Given the description of an element on the screen output the (x, y) to click on. 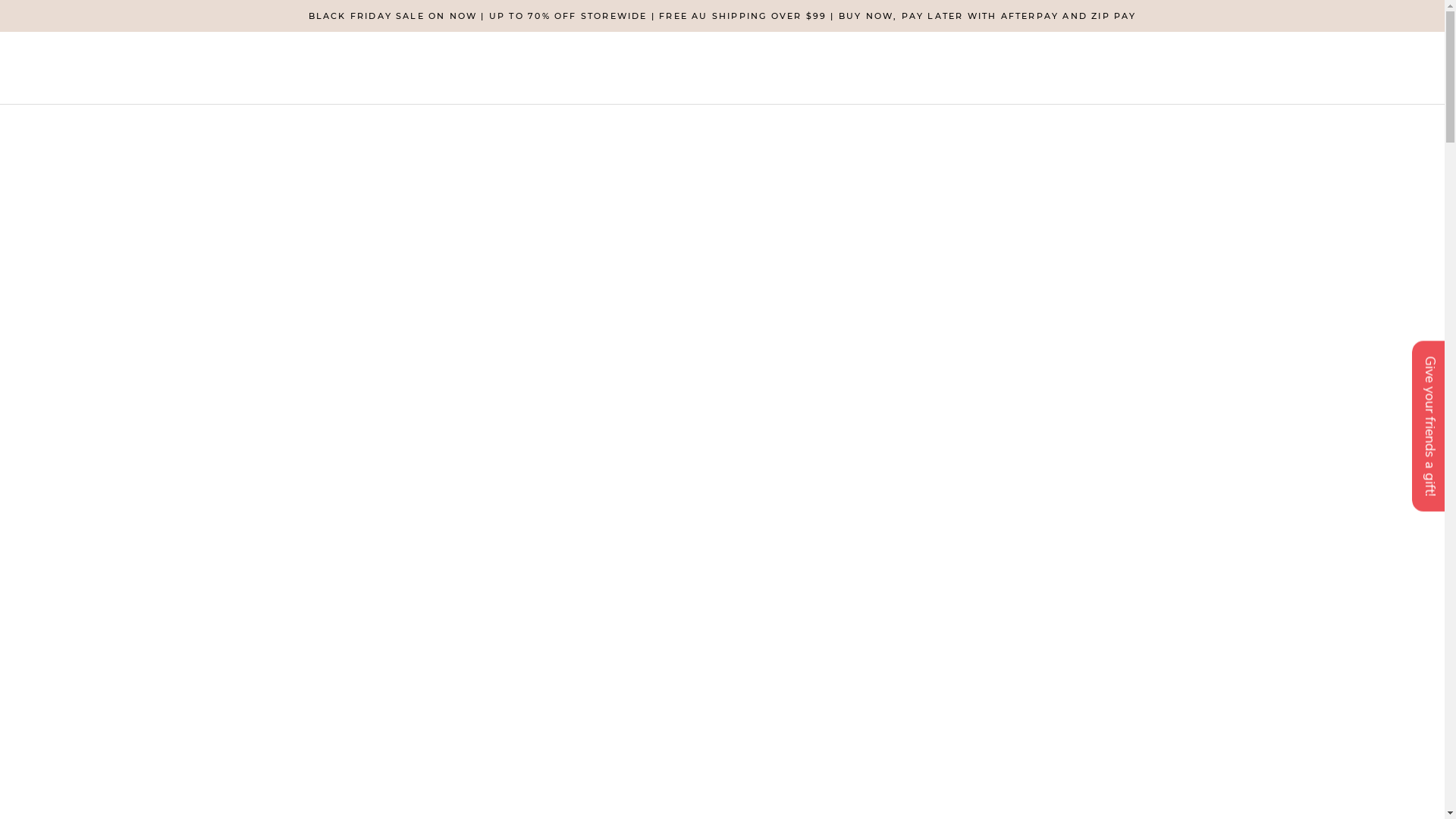
GMD Element type: text (1340, 804)
CZK Element type: text (1340, 584)
CRC Element type: text (1340, 543)
BBD Element type: text (1340, 282)
BAM Element type: text (1340, 262)
AED Element type: text (1340, 101)
CHF Element type: text (1340, 503)
AMD Element type: text (1340, 161)
DKK Element type: text (1340, 624)
BWP Element type: text (1340, 423)
FJD Element type: text (1340, 744)
CAD Element type: text (1340, 463)
DZD Element type: text (1340, 664)
AUD Element type: text (1340, 201)
DOP Element type: text (1340, 643)
BIF Element type: text (1340, 342)
ETB Element type: text (1340, 704)
CDF Element type: text (1340, 483)
BGN Element type: text (1340, 322)
CNY Element type: text (1340, 523)
BOB Element type: text (1340, 383)
EUR Element type: text (1340, 724)
ALL Element type: text (1340, 141)
ANG Element type: text (1340, 182)
BDT Element type: text (1340, 302)
BSD Element type: text (1340, 402)
CVE Element type: text (1340, 563)
AZN Element type: text (1340, 242)
FKP Element type: text (1340, 764)
BND Element type: text (1340, 362)
EGP Element type: text (1340, 684)
GBP Element type: text (1340, 785)
AWG Element type: text (1340, 222)
DJF Element type: text (1340, 603)
AFN Element type: text (1340, 121)
BZD Element type: text (1340, 443)
